Given the description of an element on the screen output the (x, y) to click on. 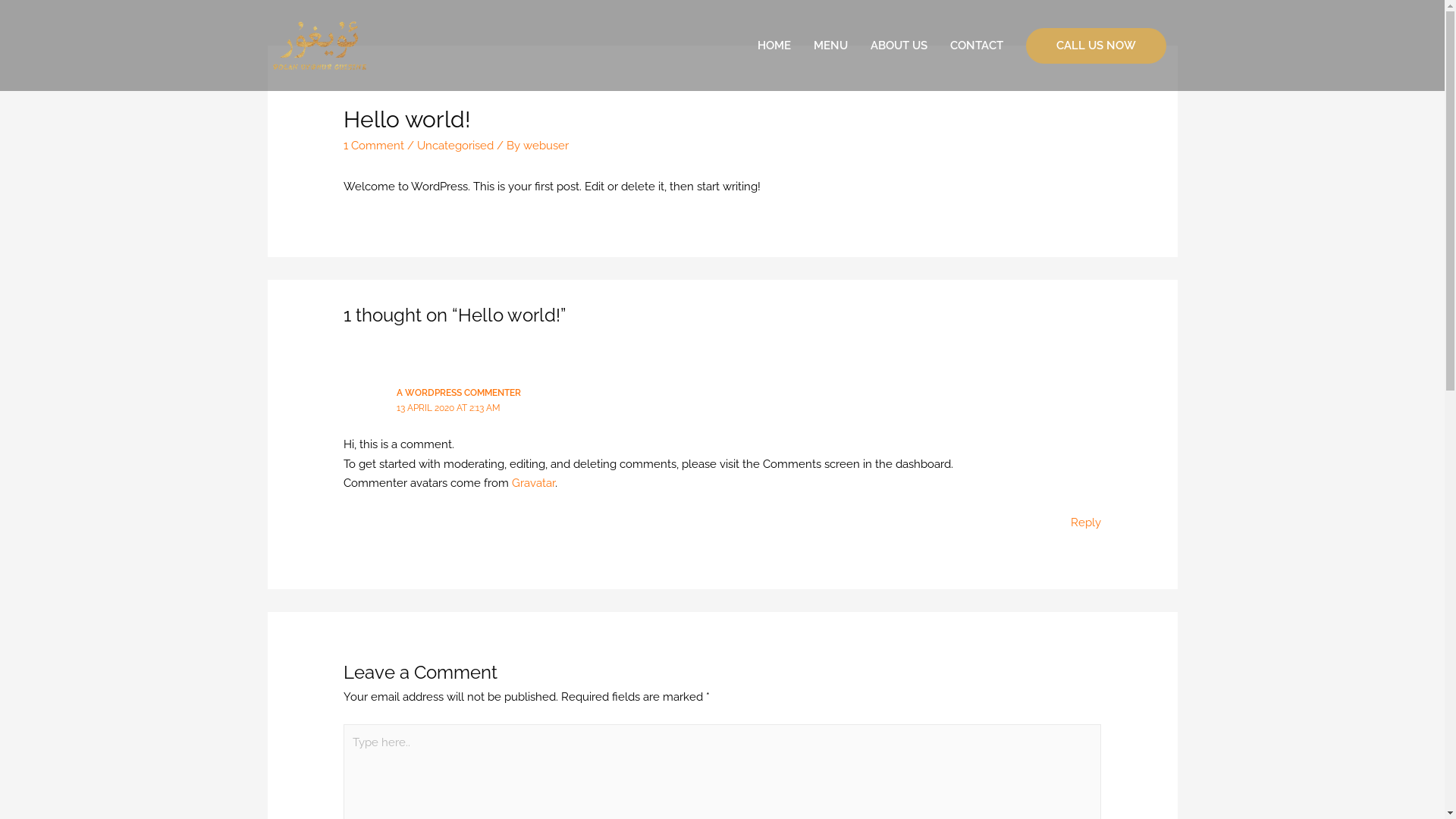
A WORDPRESS COMMENTER Element type: text (458, 392)
ABOUT US Element type: text (898, 45)
CALL US NOW Element type: text (1095, 44)
Gravatar Element type: text (533, 482)
1 Comment Element type: text (373, 145)
CONTACT Element type: text (976, 45)
MENU Element type: text (830, 45)
Uncategorised Element type: text (455, 145)
Reply Element type: text (1085, 522)
13 APRIL 2020 AT 2:13 AM Element type: text (448, 407)
HOME Element type: text (774, 45)
webuser Element type: text (545, 145)
